Given the description of an element on the screen output the (x, y) to click on. 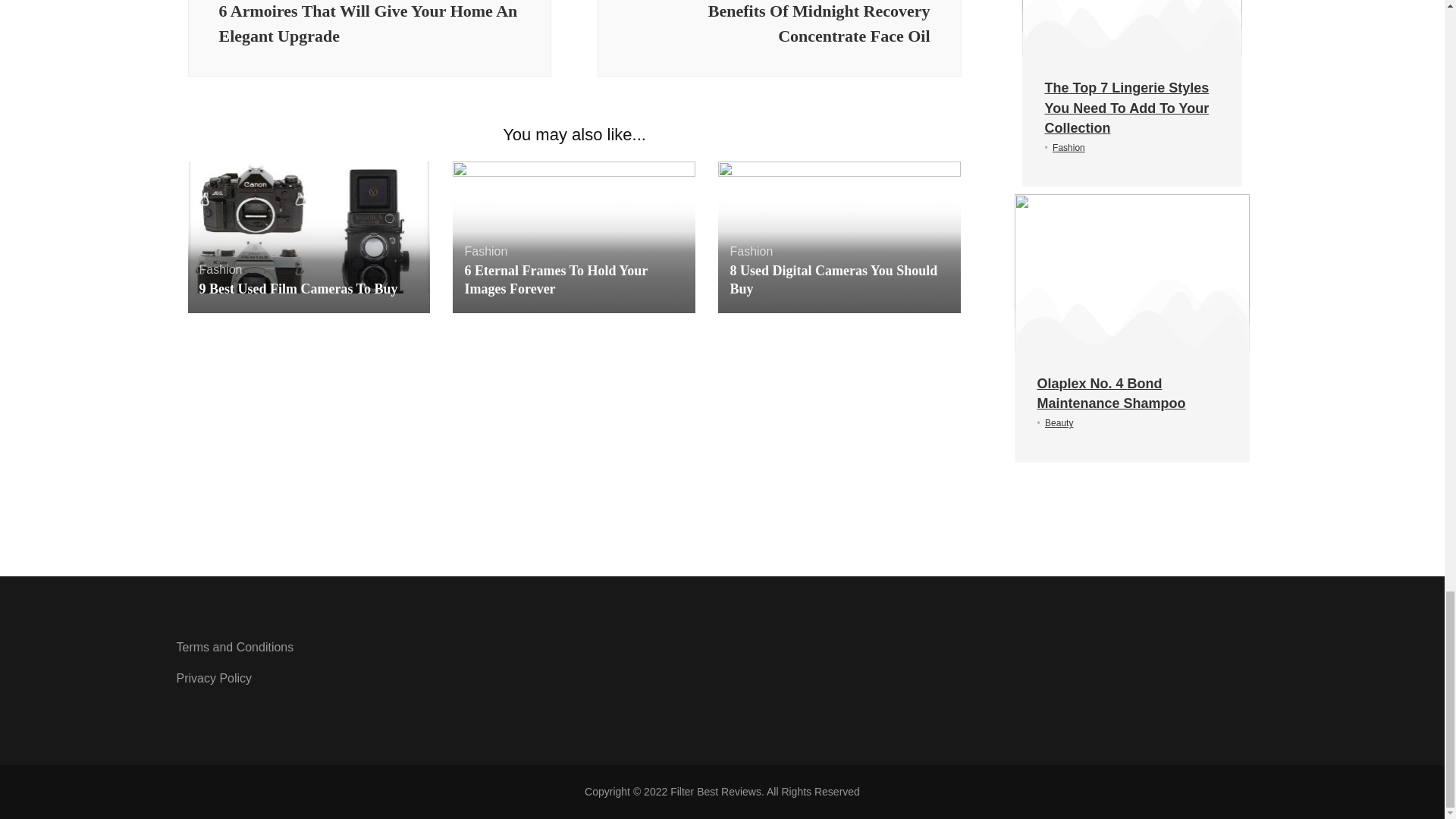
6 Eternal Frames To Hold Your Images Forever (555, 279)
Fashion (219, 269)
Fashion (751, 250)
Fashion (485, 250)
8 Used Digital Cameras You Should Buy (833, 279)
9 Best Used Film Cameras To Buy (297, 288)
